Given the description of an element on the screen output the (x, y) to click on. 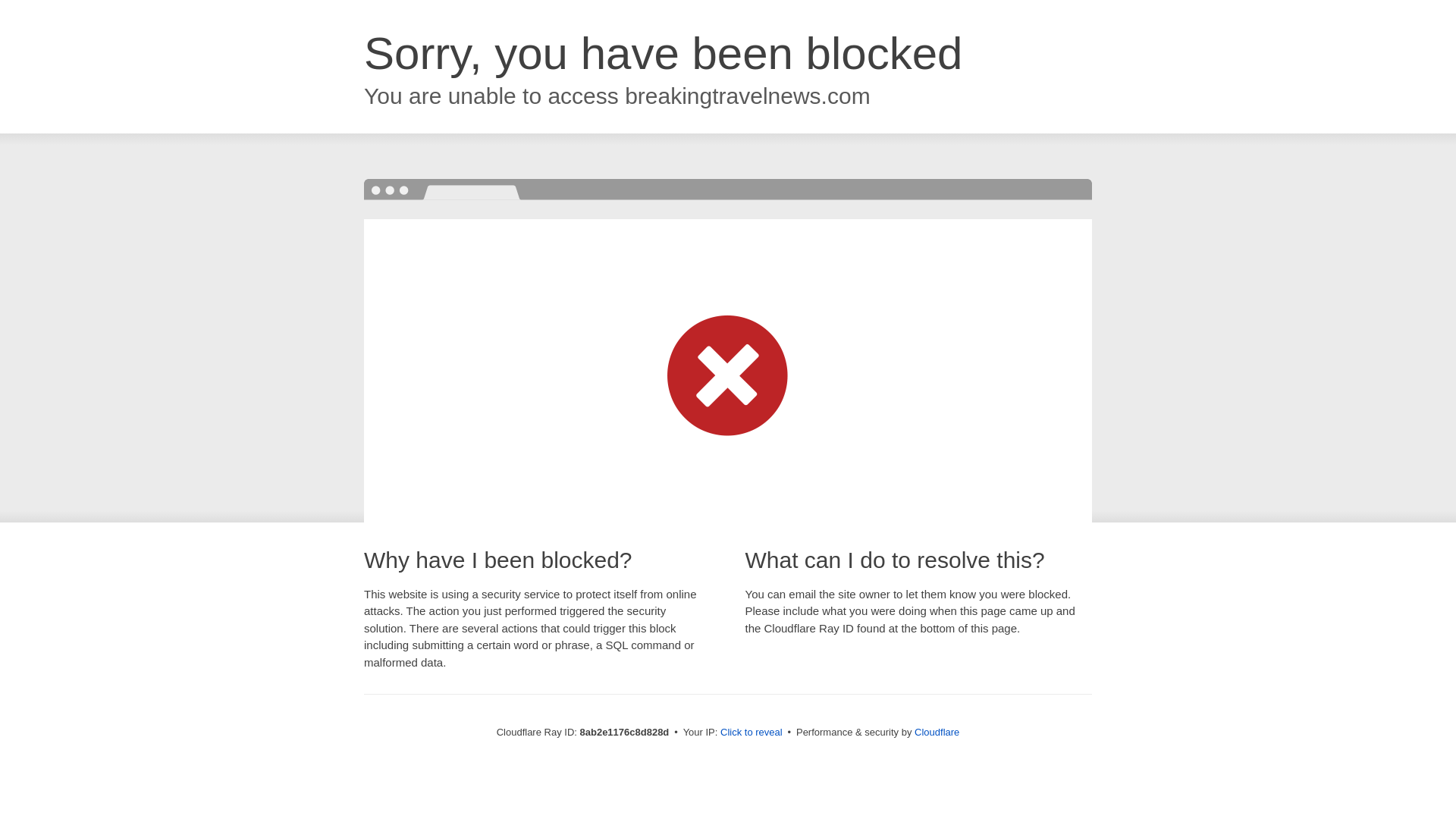
Cloudflare (936, 731)
Click to reveal (751, 732)
